Given the description of an element on the screen output the (x, y) to click on. 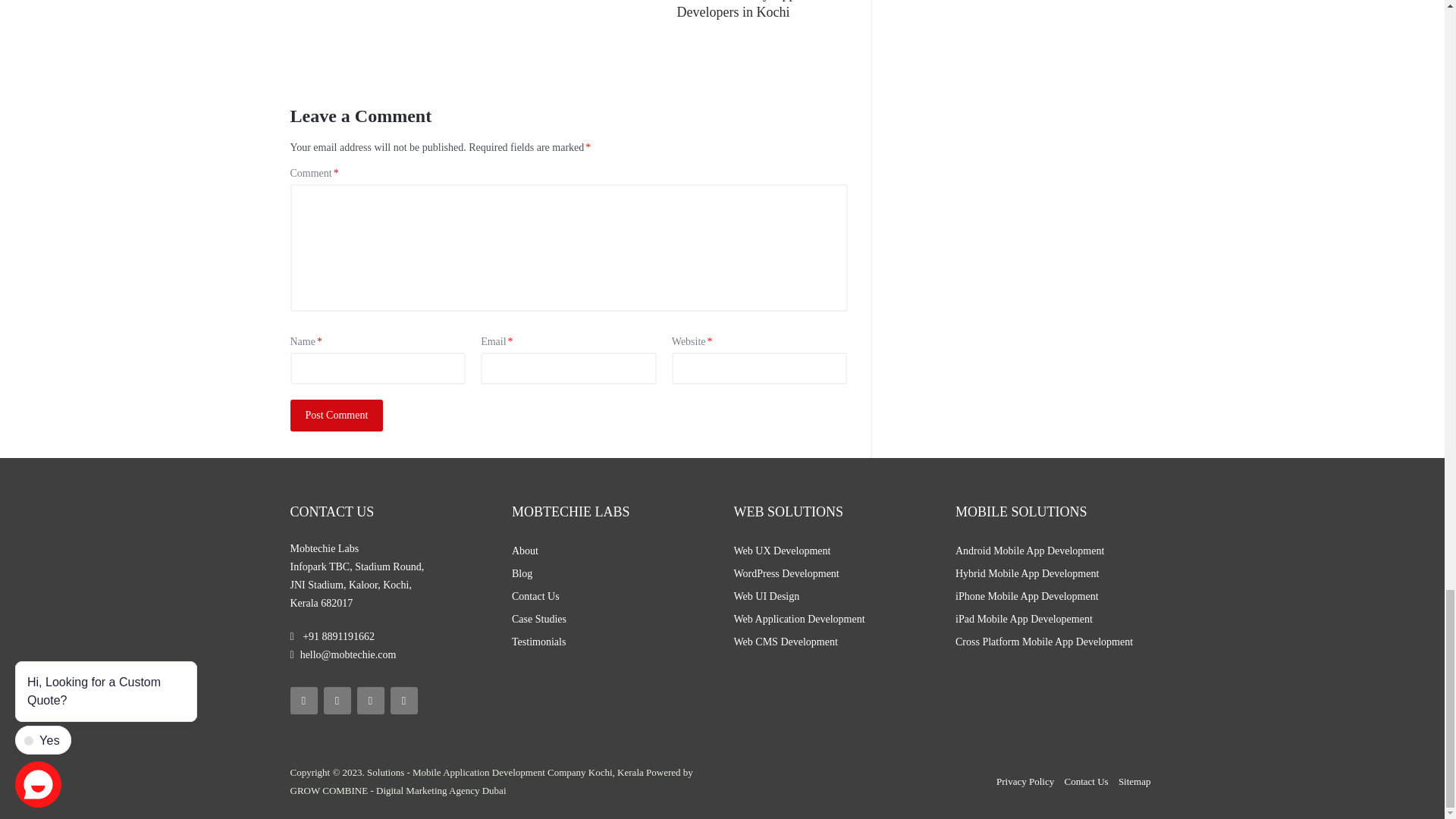
Post Comment (335, 415)
